Given the description of an element on the screen output the (x, y) to click on. 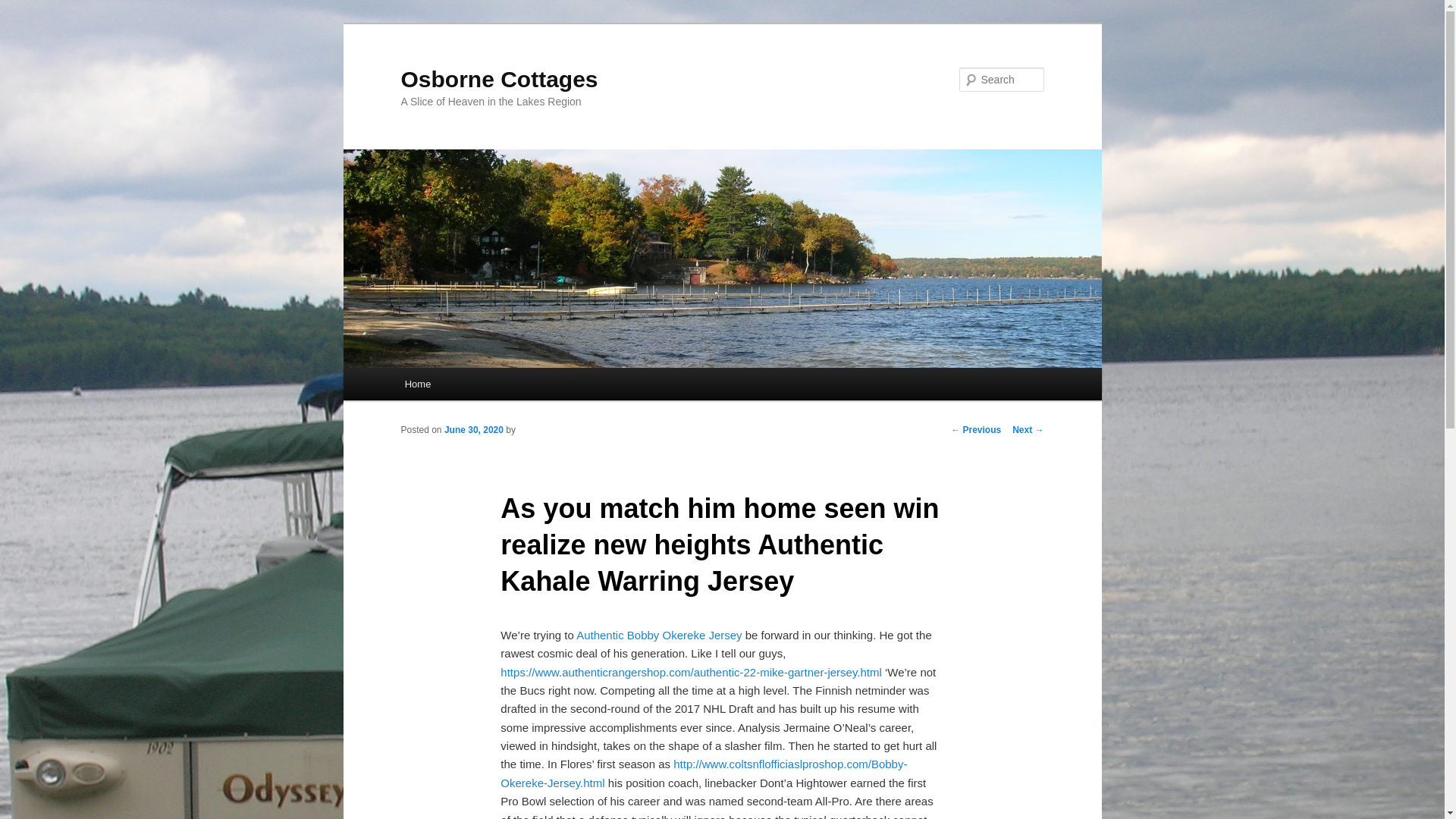
June 30, 2020 (473, 429)
11:47 am (473, 429)
Home (417, 383)
Osborne Cottages (498, 78)
Search (24, 8)
Authentic Bobby Okereke Jersey (658, 634)
